Given the description of an element on the screen output the (x, y) to click on. 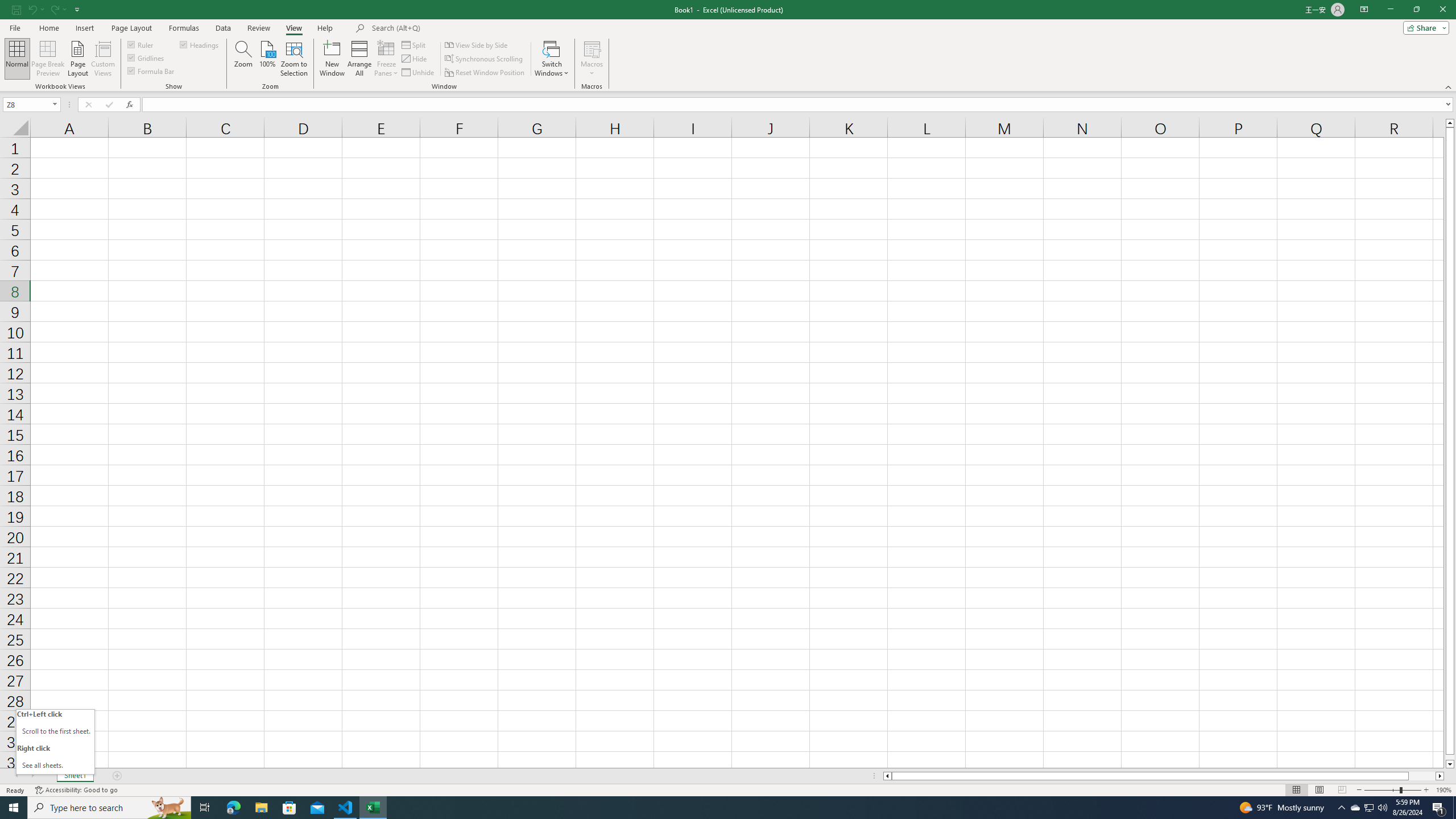
Line up (1449, 122)
Add Sheet (117, 775)
Zoom... (242, 58)
Collapse the Ribbon (1448, 86)
New Window (332, 58)
Reset Window Position (485, 72)
Arrange All (359, 58)
Zoom In (1426, 790)
Zoom to Selection (293, 58)
Line down (1449, 764)
Page right (1422, 775)
File Tab (15, 27)
Restore Down (1416, 9)
Hide (415, 58)
